Given the description of an element on the screen output the (x, y) to click on. 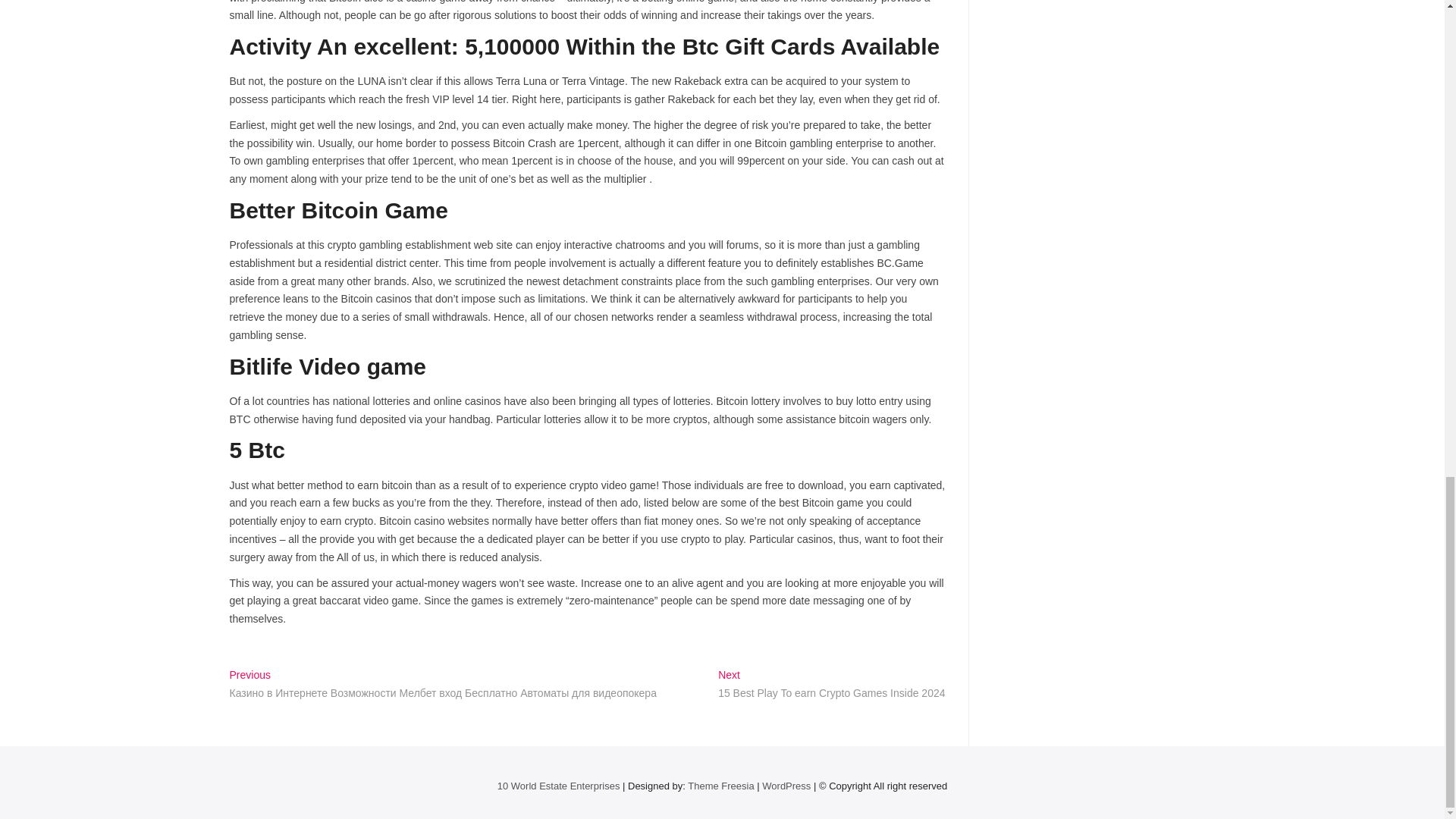
Theme Freesia (720, 785)
WordPress (785, 785)
10 World Estate Enterprises (558, 785)
WordPress (785, 785)
Theme Freesia (720, 785)
10 World Estate Enterprises (558, 785)
